Given the description of an element on the screen output the (x, y) to click on. 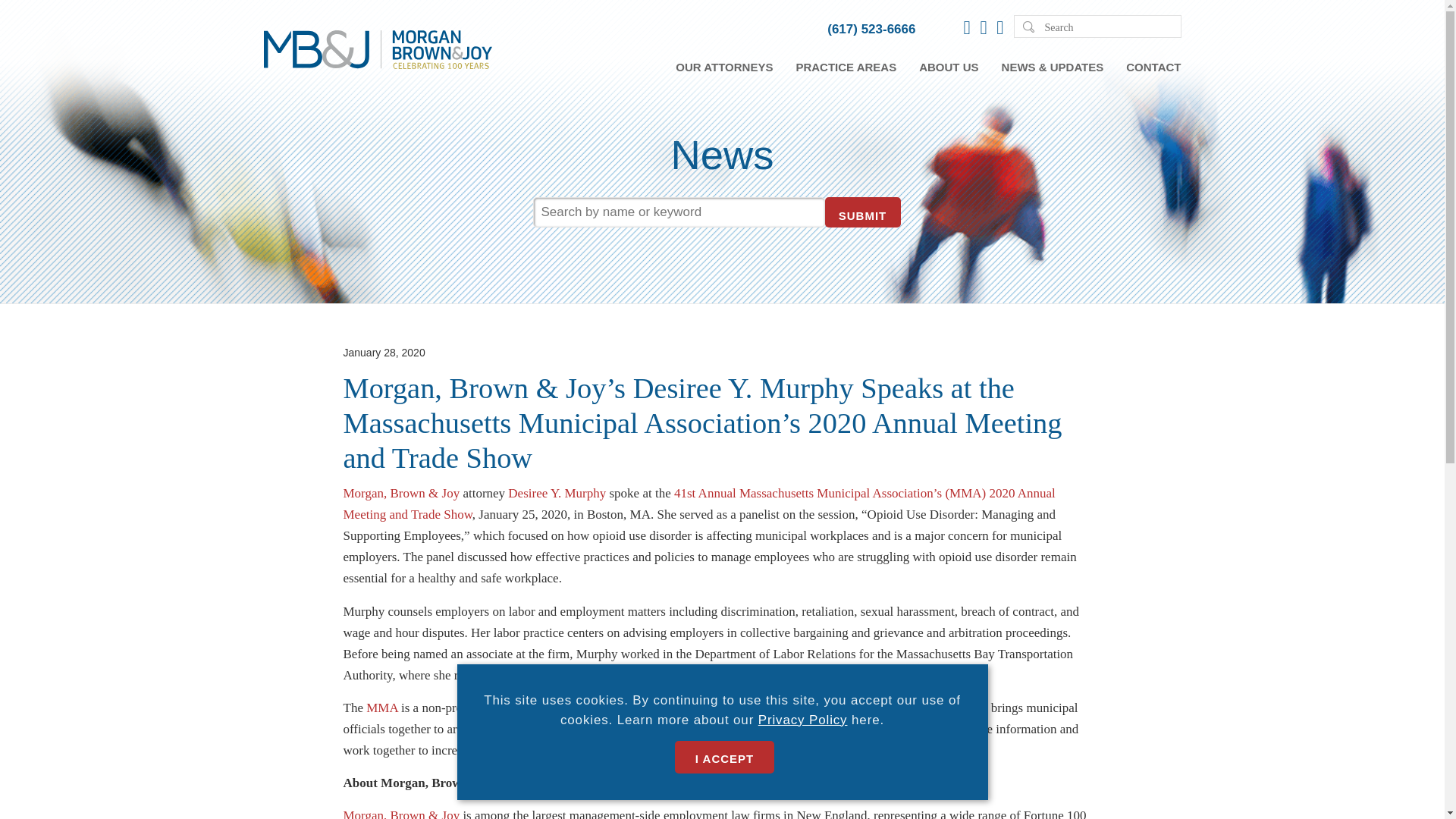
MMA (381, 707)
Desiree Y. Murphy (556, 493)
ABOUT US (948, 66)
OUR ATTORNEYS (724, 66)
PRACTICE AREAS (845, 66)
CONTACT (1152, 66)
SUBMIT (863, 212)
